Given the description of an element on the screen output the (x, y) to click on. 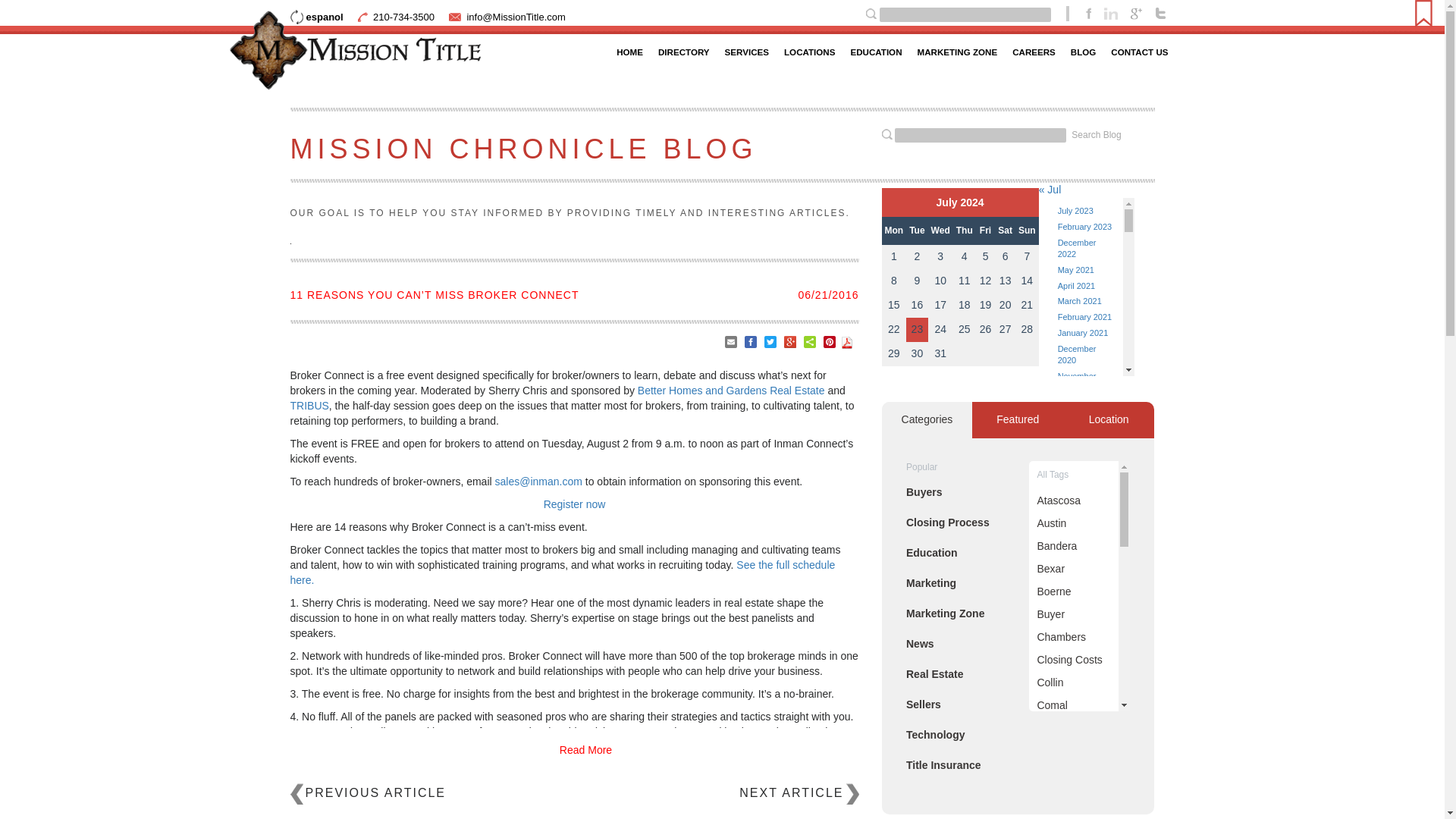
Download PDF (845, 340)
SERVICES (746, 51)
Monday (892, 230)
Search (871, 13)
MARKETING ZONE (957, 51)
LOCATIONS (809, 51)
210-734-3500 (402, 16)
Follow Us on LinkedIn (1110, 12)
Email Mission Title (514, 16)
Follow Us on Twitter (1160, 12)
HOME (629, 51)
Wednesday (940, 230)
espanol (315, 16)
EDUCATION (875, 51)
Call Mission Title (402, 16)
